Given the description of an element on the screen output the (x, y) to click on. 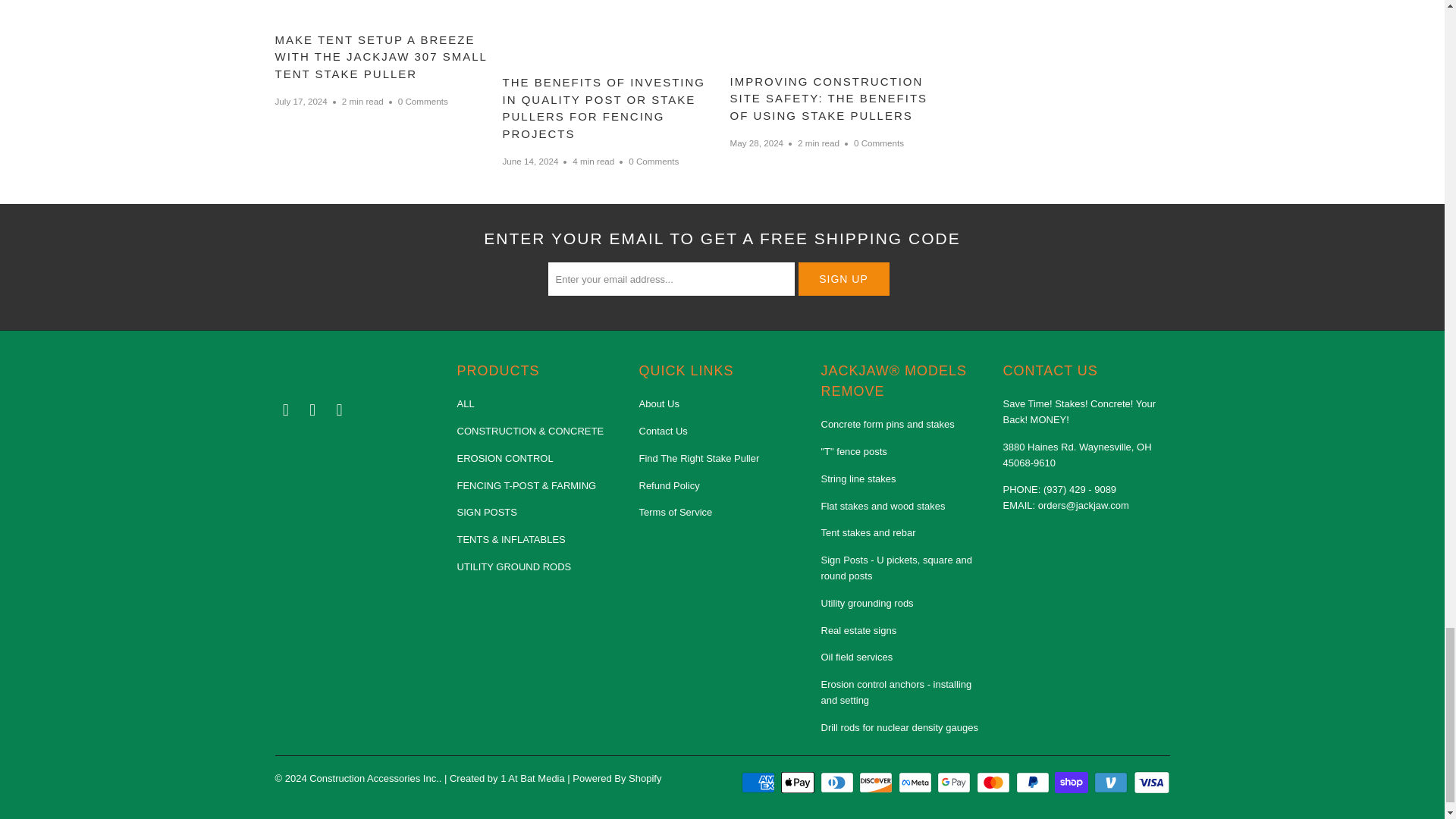
Apple Pay (798, 782)
Sign Up (842, 278)
Shop Pay (1072, 782)
Mastercard (994, 782)
Google Pay (955, 782)
Visa (1150, 782)
Meta Pay (916, 782)
Venmo (1112, 782)
American Express (759, 782)
PayPal (1034, 782)
